Given the description of an element on the screen output the (x, y) to click on. 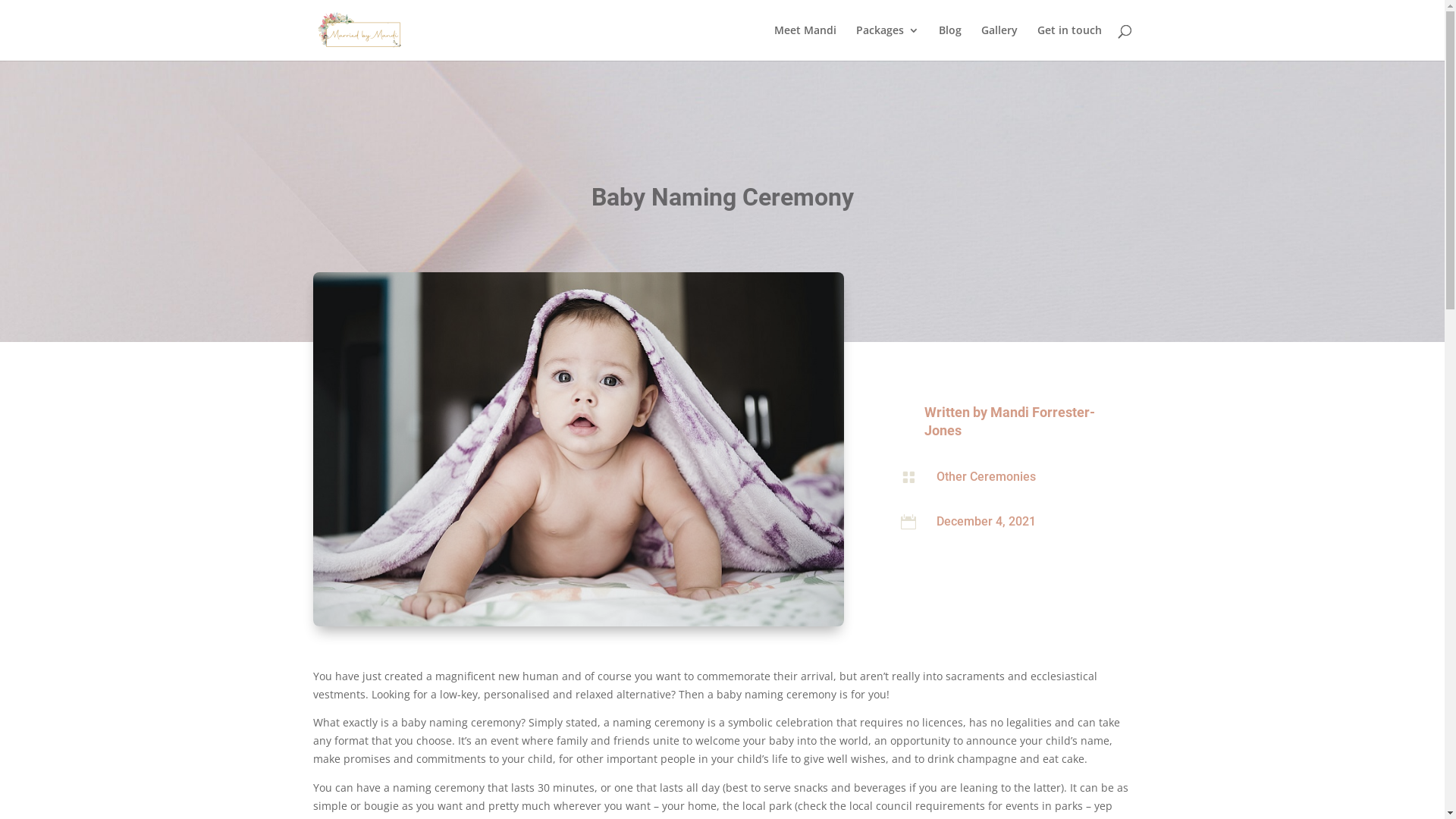
Mandi Forrester-Jones Element type: text (1009, 420)
Blog Element type: text (949, 42)
Packages Element type: text (886, 42)
Get in touch Element type: text (1069, 42)
Baby Naming 800 x 533 Element type: hover (577, 448)
Meet Mandi Element type: text (804, 42)
Gallery Element type: text (999, 42)
Other Ceremonies Element type: text (985, 476)
